Given the description of an element on the screen output the (x, y) to click on. 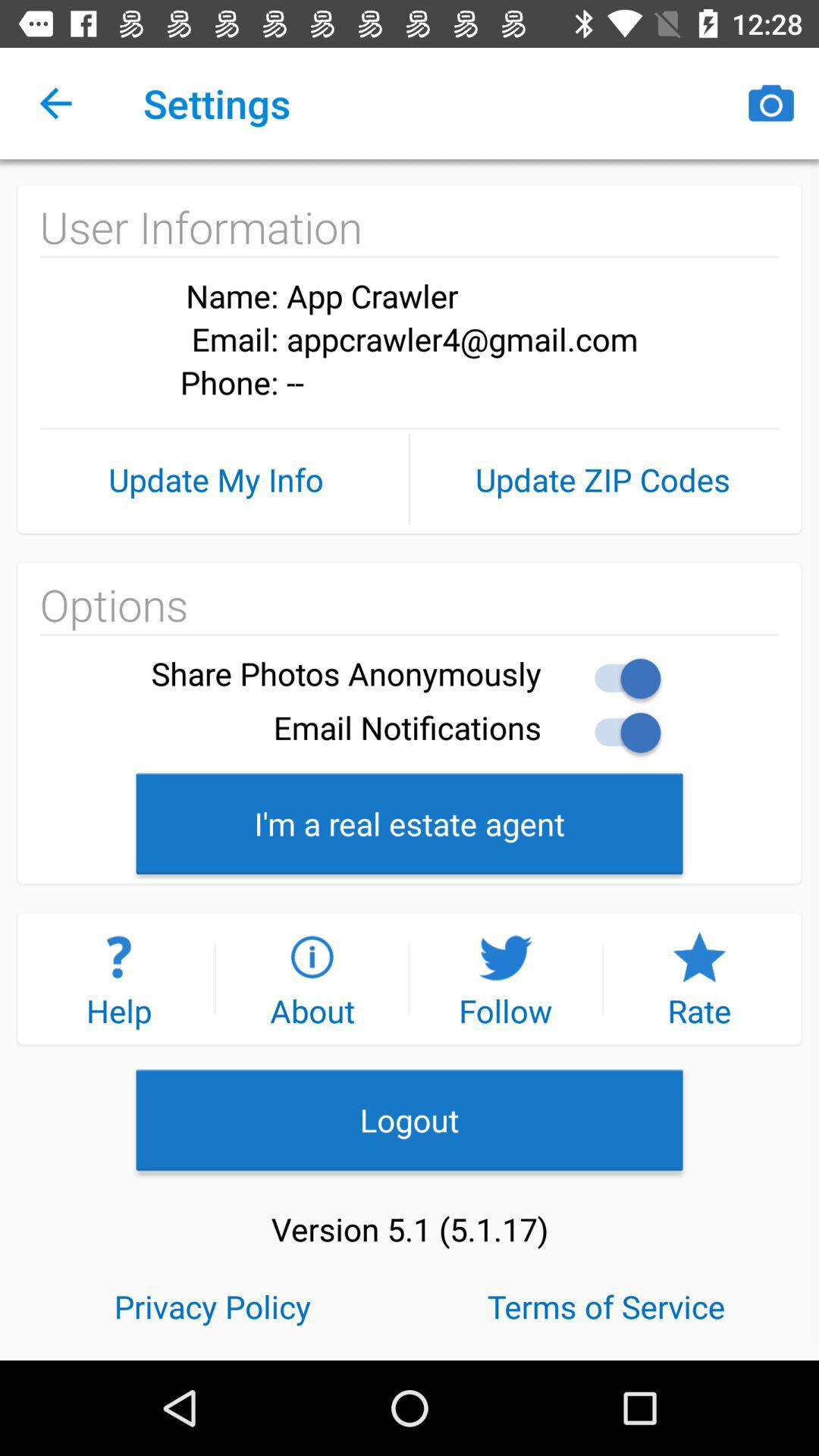
select update my info icon (215, 478)
